Given the description of an element on the screen output the (x, y) to click on. 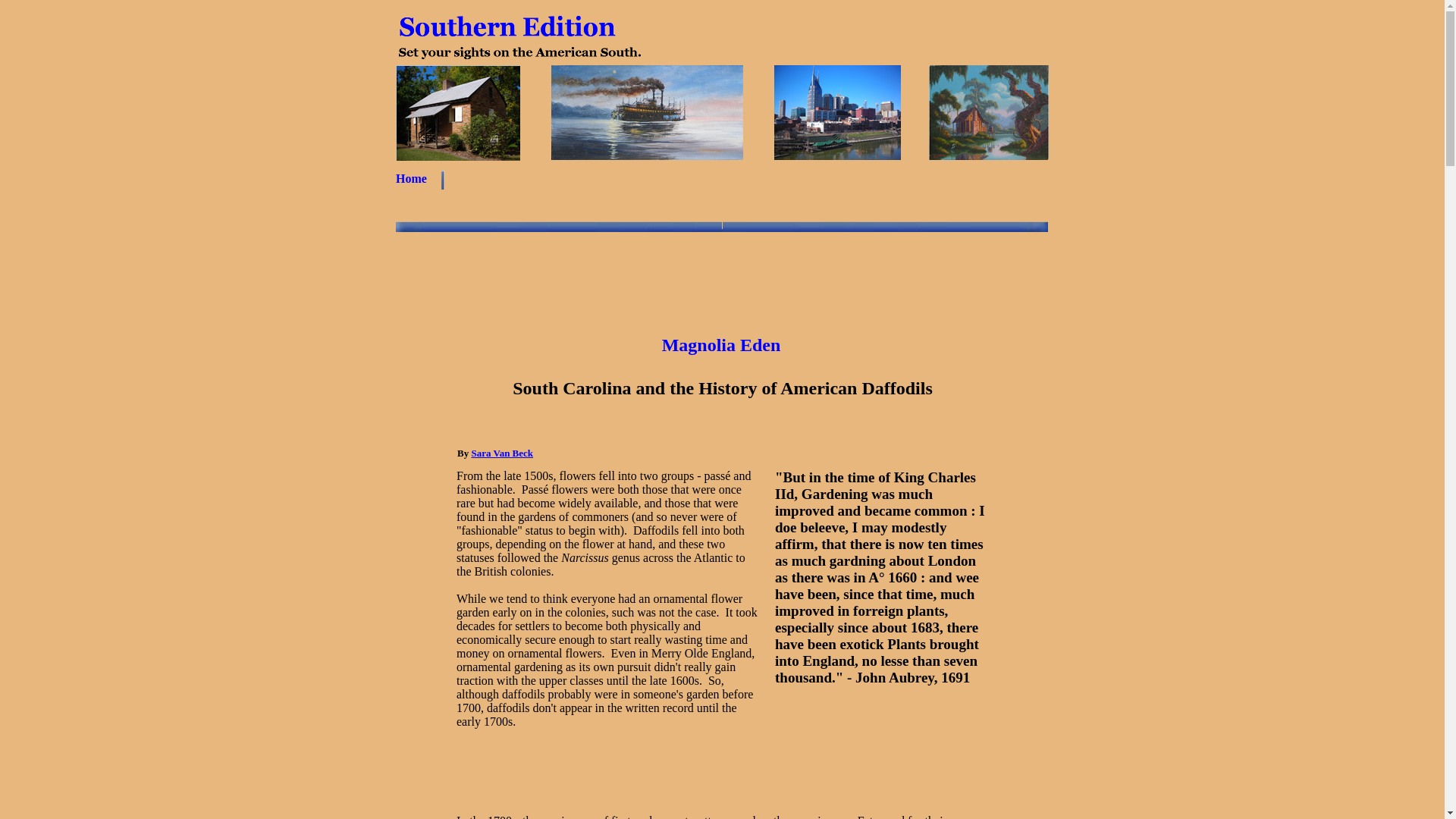
Advertisement (721, 269)
Sara Van Beck (501, 452)
Sara Van Beck Biography (501, 452)
Home (411, 178)
Home (411, 178)
